Given the description of an element on the screen output the (x, y) to click on. 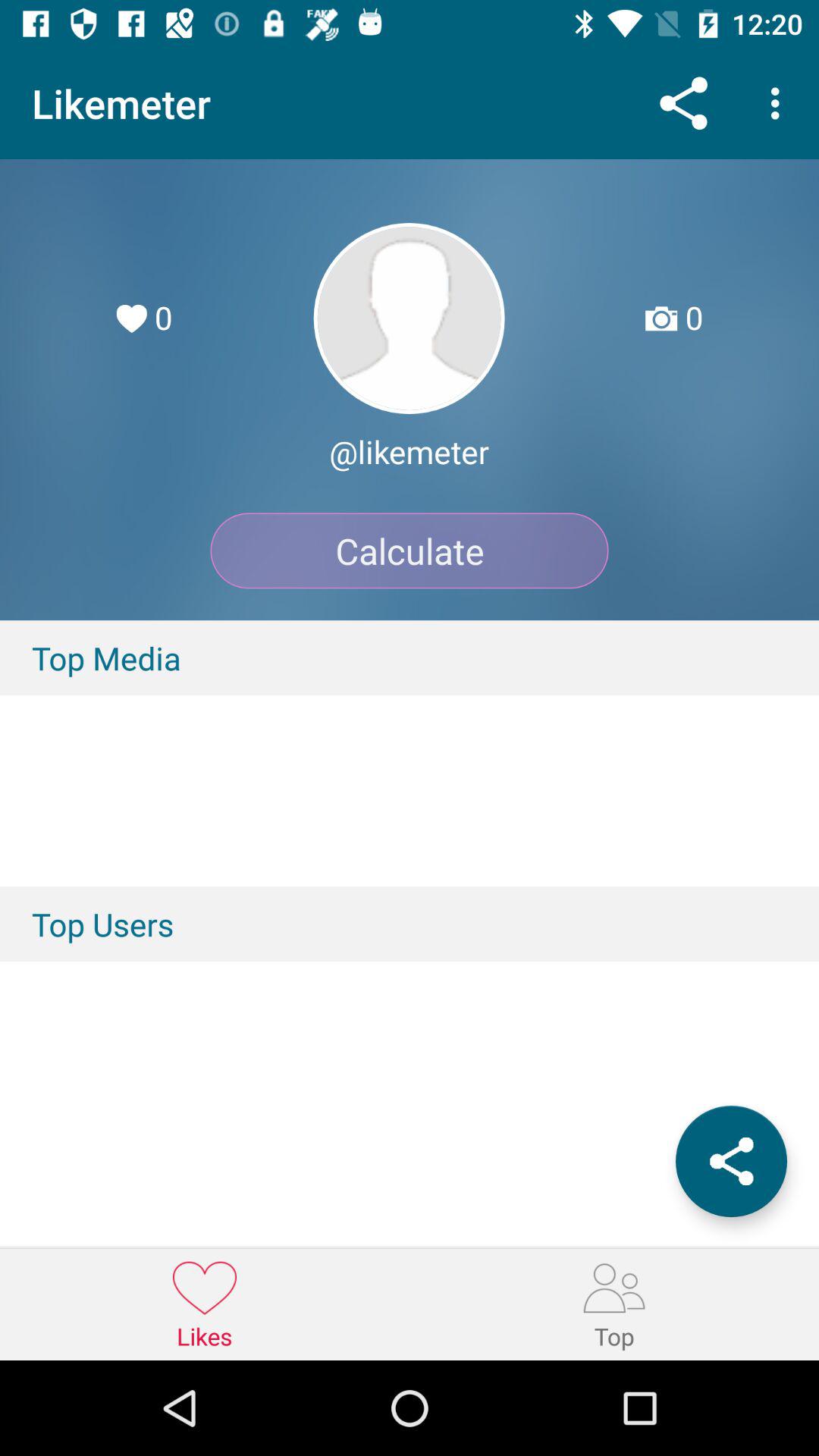
share (731, 1161)
